Given the description of an element on the screen output the (x, y) to click on. 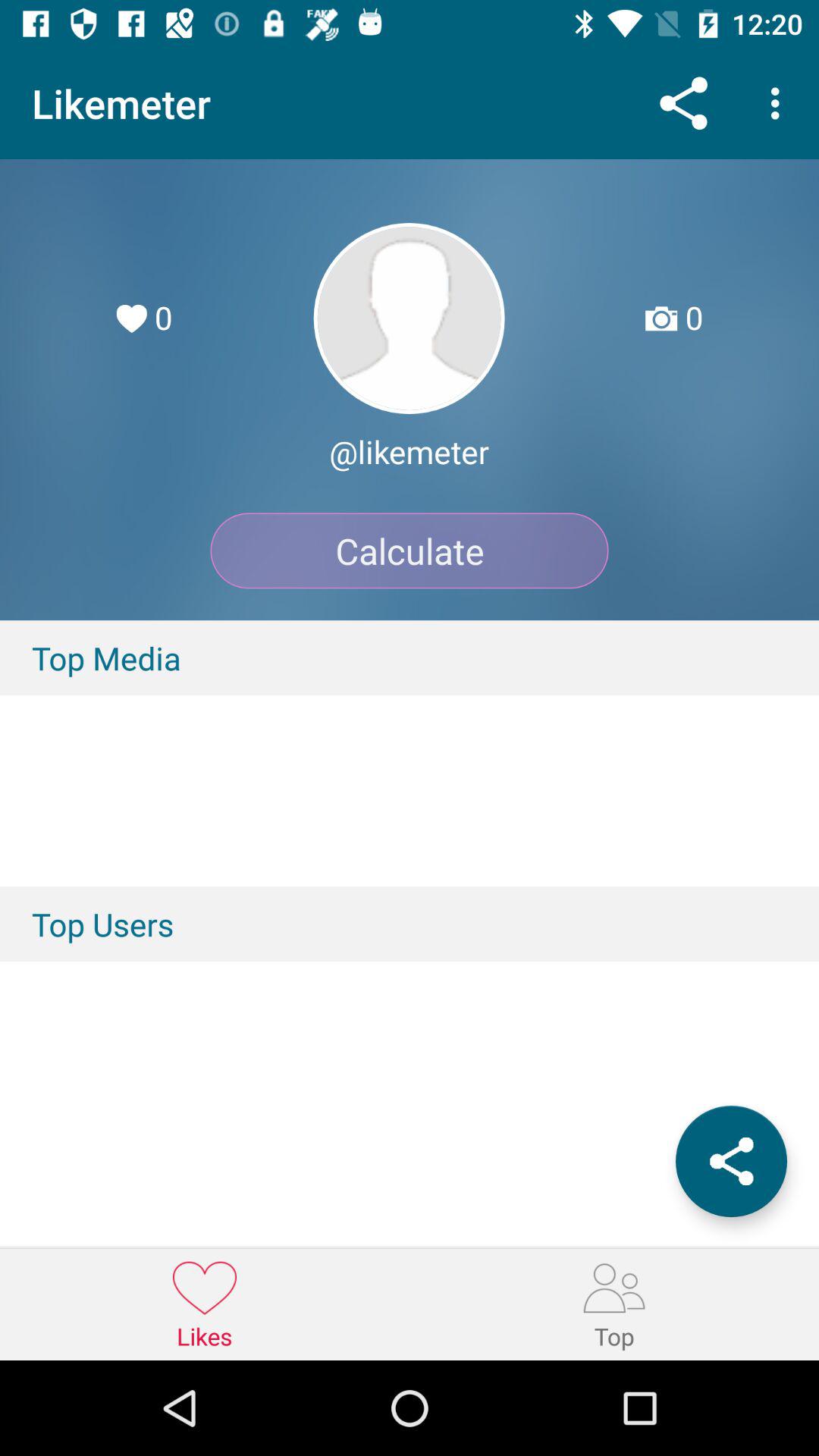
share (731, 1161)
